Given the description of an element on the screen output the (x, y) to click on. 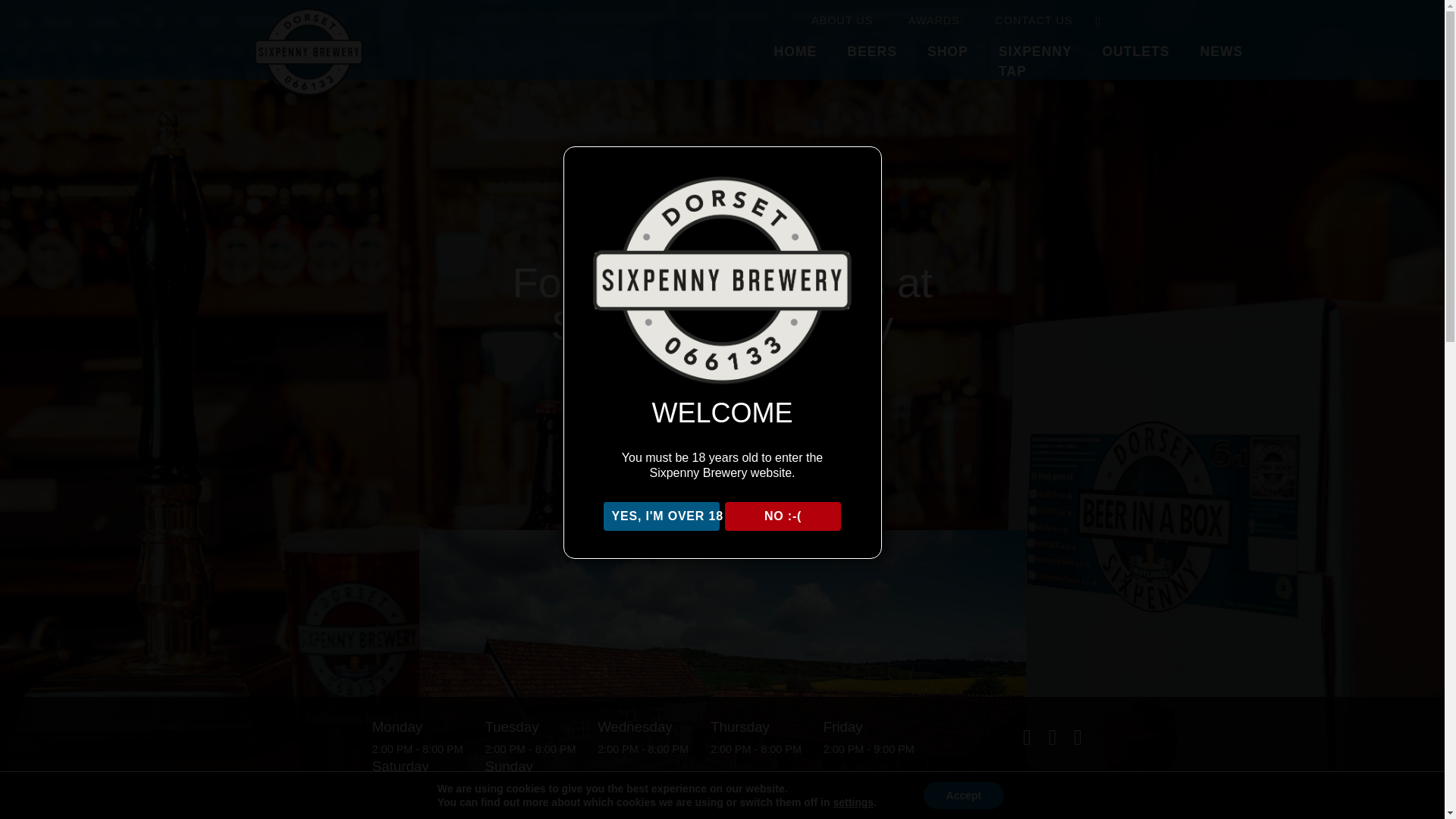
SIXPENNY TAP (1035, 57)
ABOUT US (841, 20)
CONTACT US (1032, 20)
OUTLETS (1135, 47)
SHOP (948, 47)
AWARDS (933, 20)
NEWS (1222, 47)
BEERS (871, 47)
HOME (794, 47)
